Given the description of an element on the screen output the (x, y) to click on. 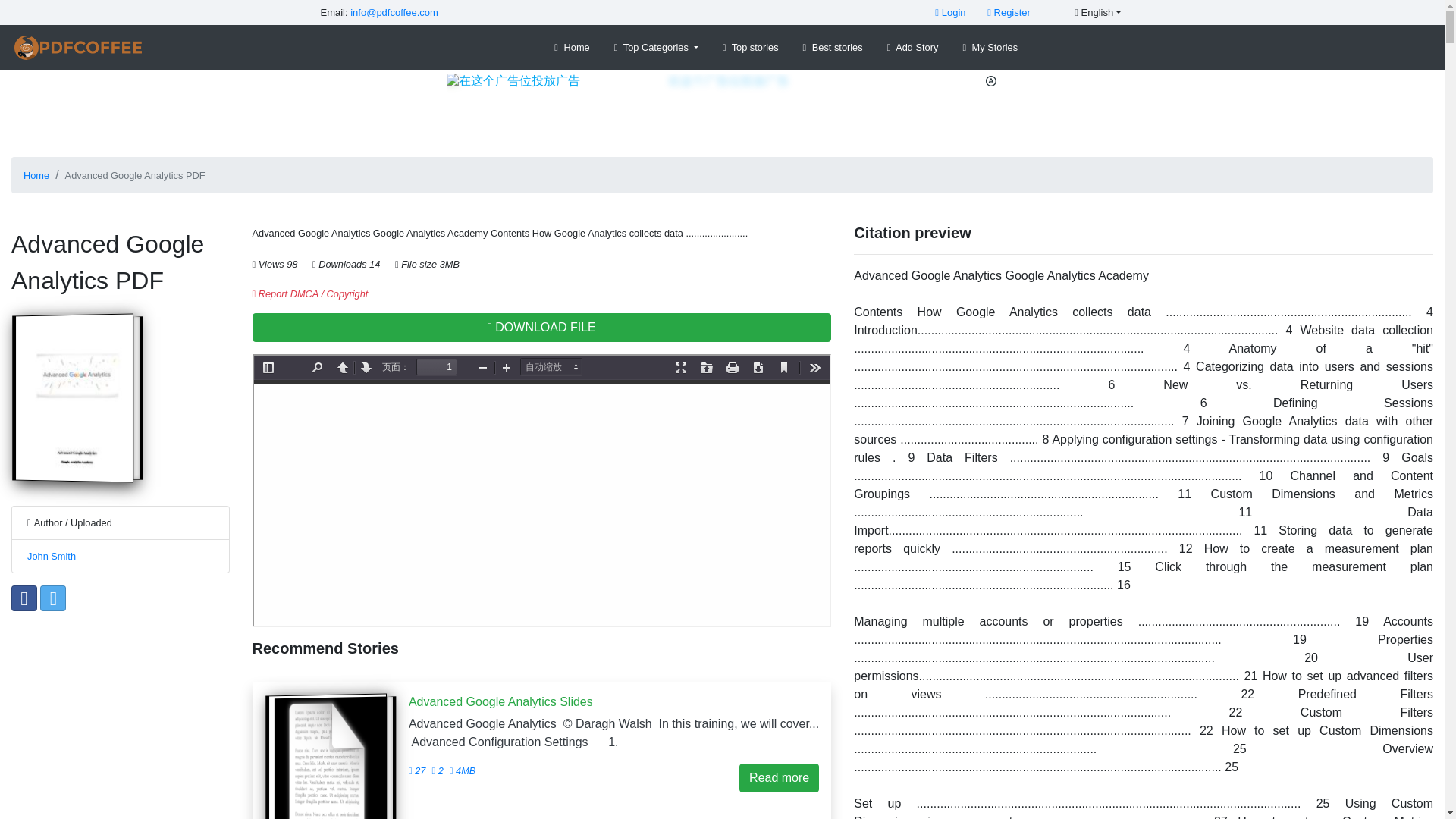
DOWNLOAD FILE (541, 327)
Home (571, 47)
Register (1008, 12)
My Stories (989, 47)
Login (949, 12)
Best stories (832, 47)
Top Categories (656, 47)
Top stories (750, 47)
John Smith (51, 555)
Home (36, 174)
Add Story (912, 47)
